Given the description of an element on the screen output the (x, y) to click on. 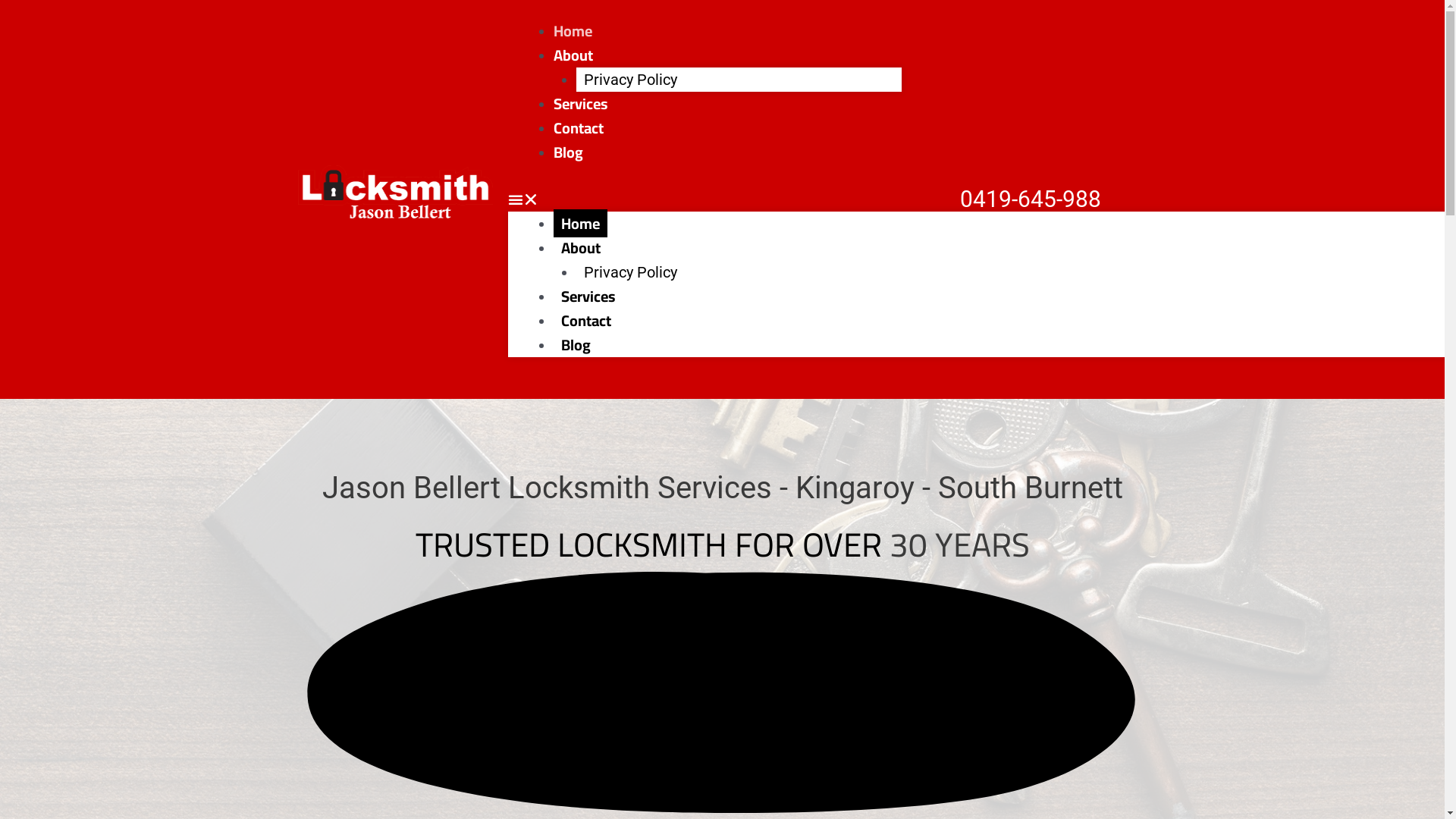
Blog Element type: text (568, 152)
Home Element type: text (572, 30)
Blog Element type: text (575, 344)
Contact Element type: text (585, 320)
About Element type: text (573, 54)
Contact Element type: text (578, 127)
Home Element type: text (580, 223)
Privacy Policy Element type: text (630, 272)
Services Element type: text (588, 296)
About Element type: text (580, 247)
Services Element type: text (580, 103)
Privacy Policy Element type: text (630, 79)
